Given the description of an element on the screen output the (x, y) to click on. 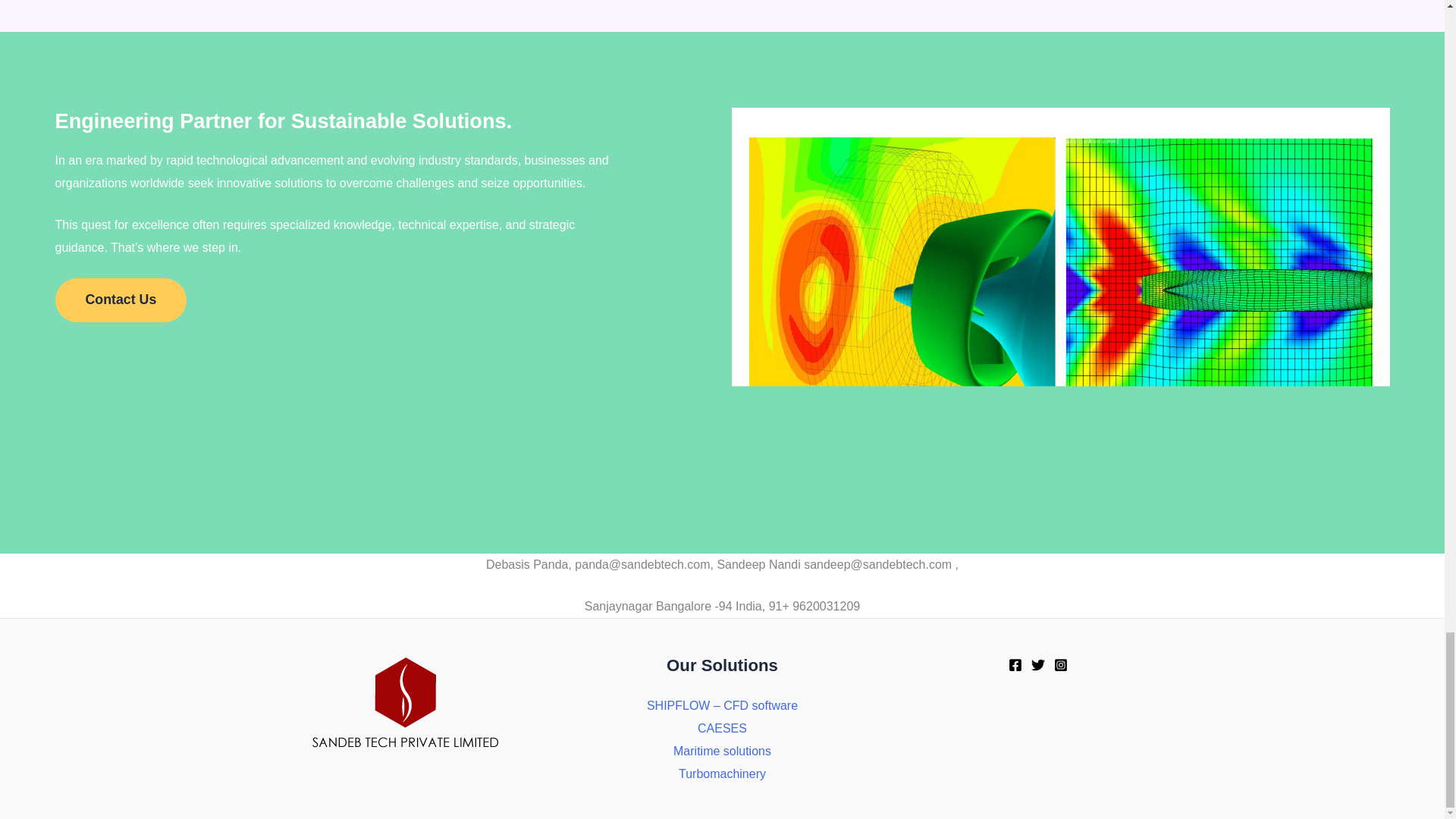
Contact Us (120, 300)
CAESES (721, 727)
Turbomachinery (721, 773)
Maritime solutions (721, 750)
